Given the description of an element on the screen output the (x, y) to click on. 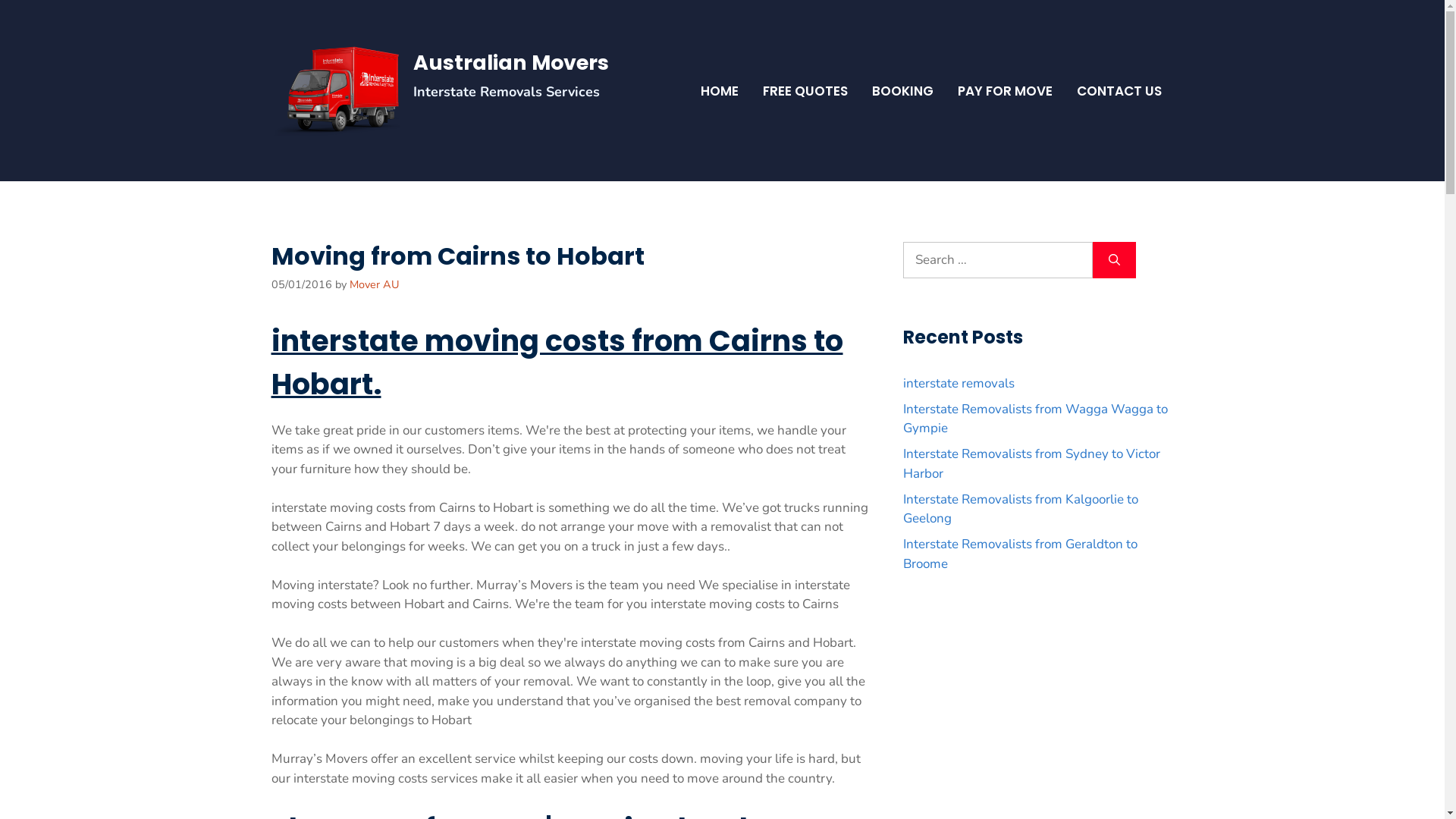
BOOKING Element type: text (902, 90)
CONTACT US Element type: text (1118, 90)
Search for: Element type: hover (997, 259)
interstate removals Element type: text (957, 383)
PAY FOR MOVE Element type: text (1003, 90)
Australian Movers Element type: text (510, 62)
HOME Element type: text (719, 90)
Interstate Removalists from Kalgoorlie to Geelong Element type: text (1019, 508)
Interstate Removalists from Sydney to Victor Harbor Element type: text (1030, 463)
Interstate Removalists from Wagga Wagga to Gympie Element type: text (1034, 418)
FREE QUOTES Element type: text (804, 90)
Interstate Removalists from Geraldton to Broome Element type: text (1019, 553)
Mover AU Element type: text (373, 283)
